Given the description of an element on the screen output the (x, y) to click on. 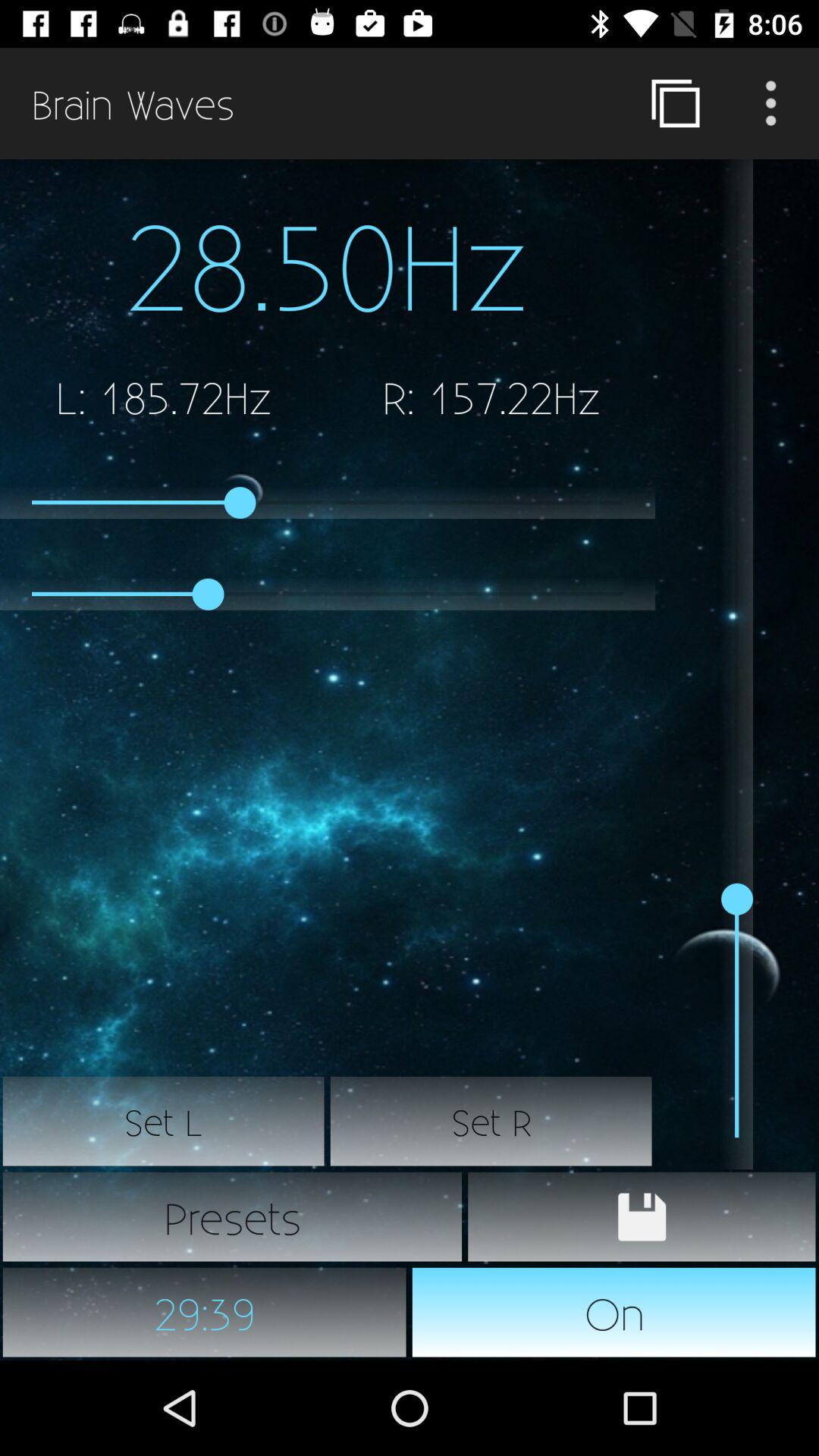
open the presets (232, 1216)
